Given the description of an element on the screen output the (x, y) to click on. 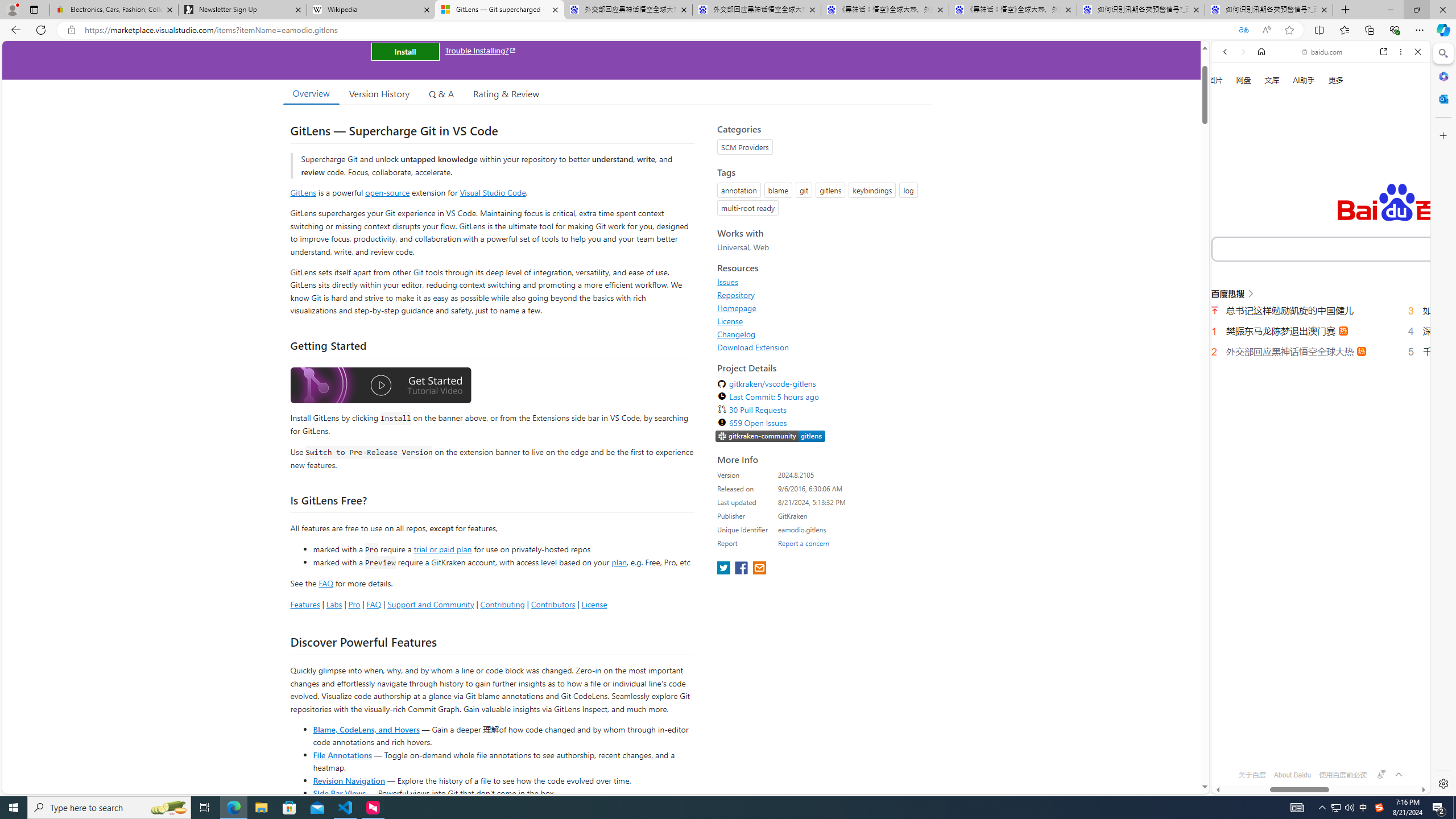
Issues (727, 281)
Labs (334, 603)
